Given the description of an element on the screen output the (x, y) to click on. 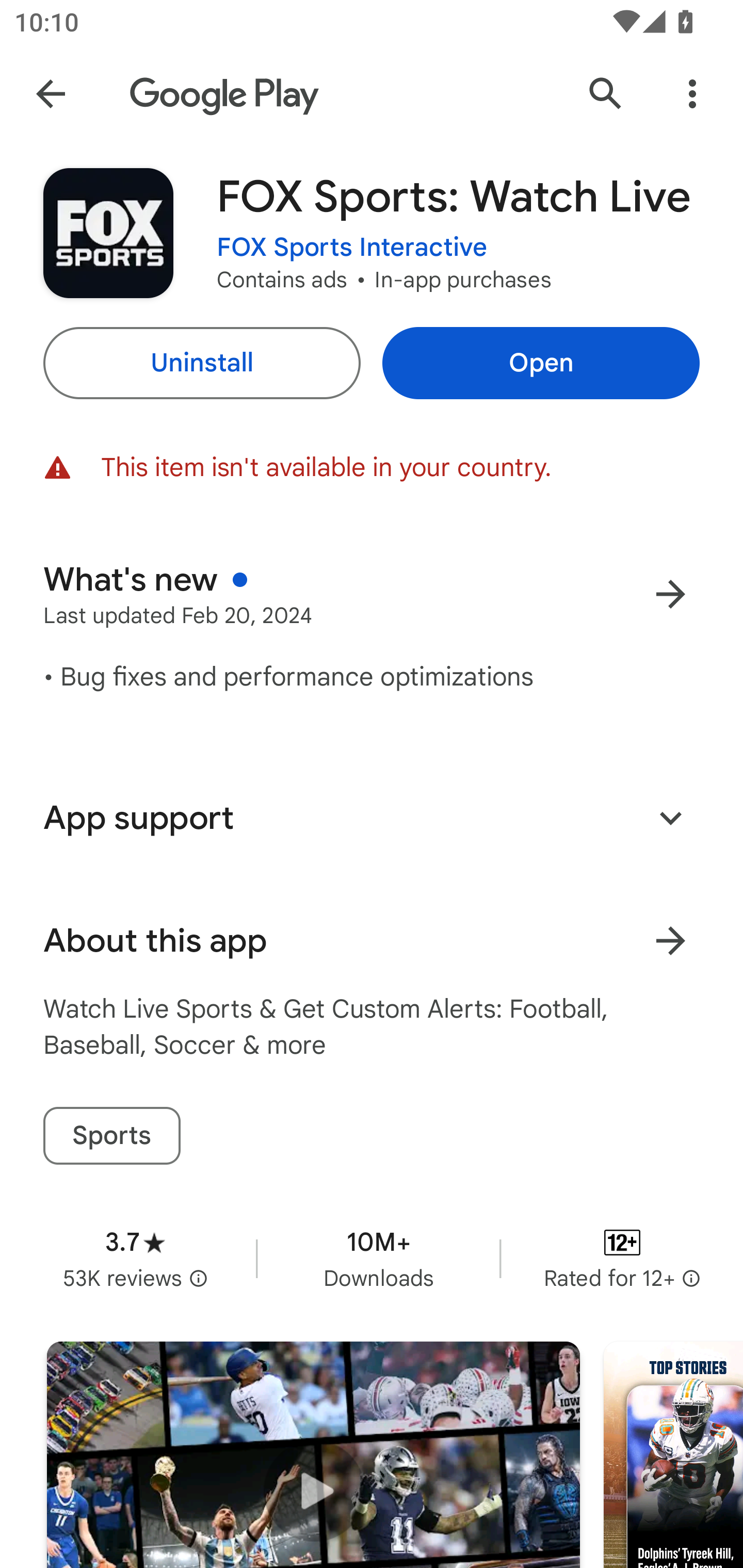
Navigate up (50, 93)
Search Google Play (605, 93)
More Options (692, 93)
FOX Sports Interactive (351, 247)
Uninstall (201, 362)
Open (540, 362)
More results for What's new (670, 594)
App support Expand (371, 817)
Expand (670, 817)
About this app Learn more About this app (371, 940)
Learn more About this app (670, 940)
Sports tag (111, 1135)
Average rating 3.7 stars in 53 thousand reviews (135, 1258)
Content rating Rated for 12+ (622, 1258)
Play trailer for "FOX Sports: Watch Live" (313, 1455)
